Given the description of an element on the screen output the (x, y) to click on. 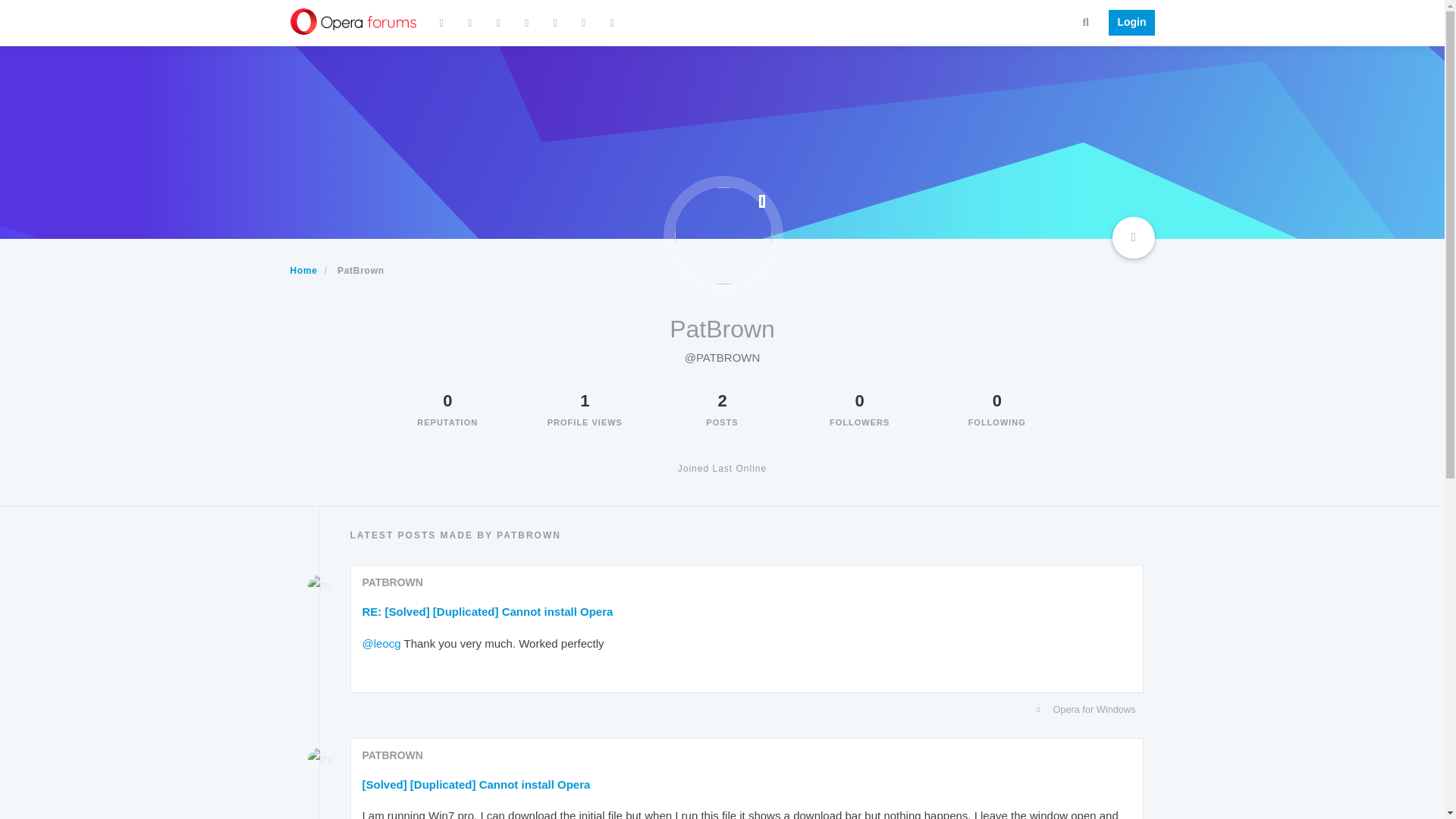
Home (303, 270)
PATBROWN (392, 582)
Login (1127, 22)
Opera for Windows (742, 710)
0 (447, 400)
PATBROWN (392, 755)
Search (1085, 21)
